Given the description of an element on the screen output the (x, y) to click on. 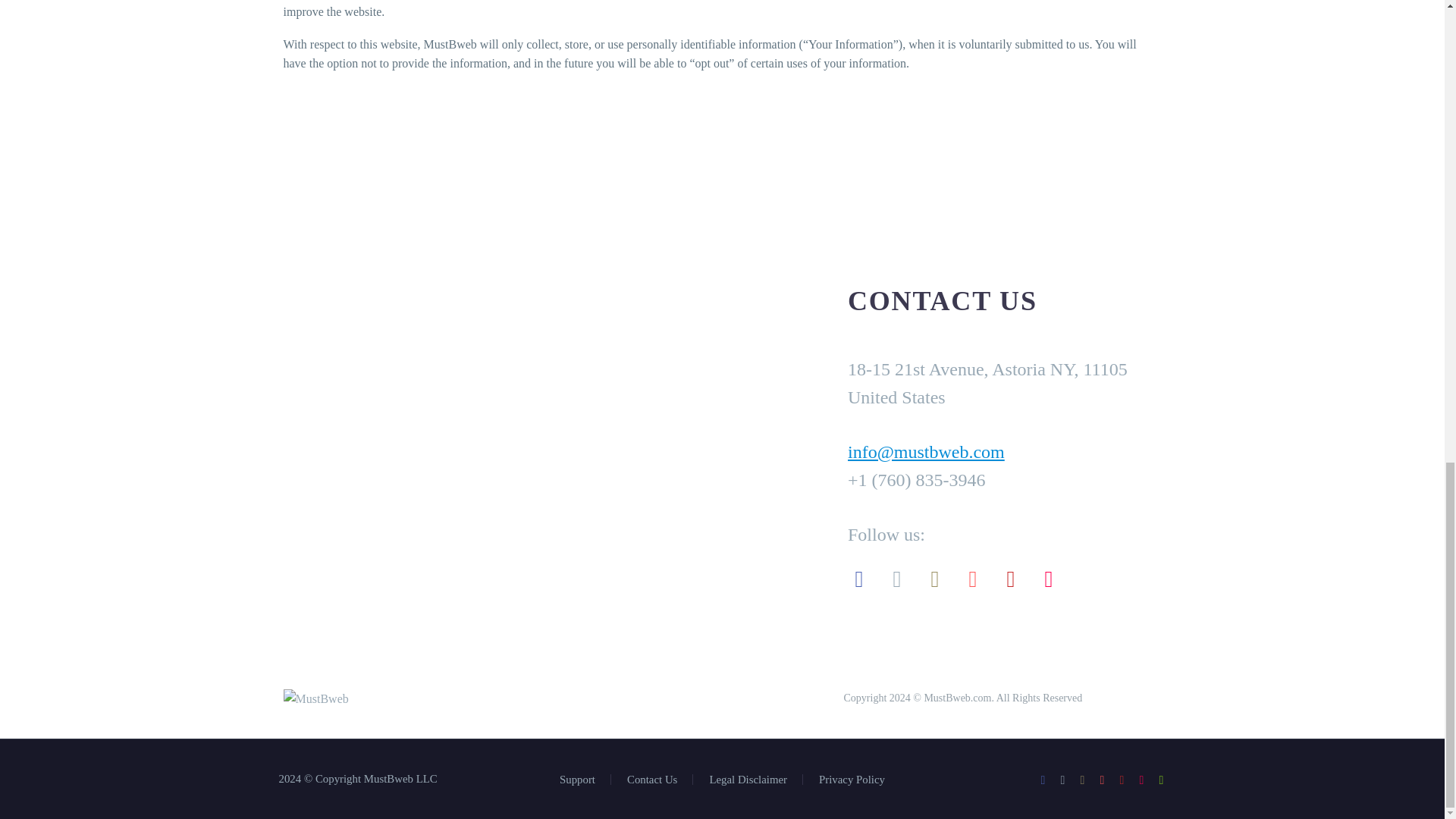
YouTube (1122, 779)
Twitter (1062, 779)
Pinterest (1102, 779)
Facebook (1042, 779)
TikTok (1141, 779)
Instagram (1083, 779)
